Given the description of an element on the screen output the (x, y) to click on. 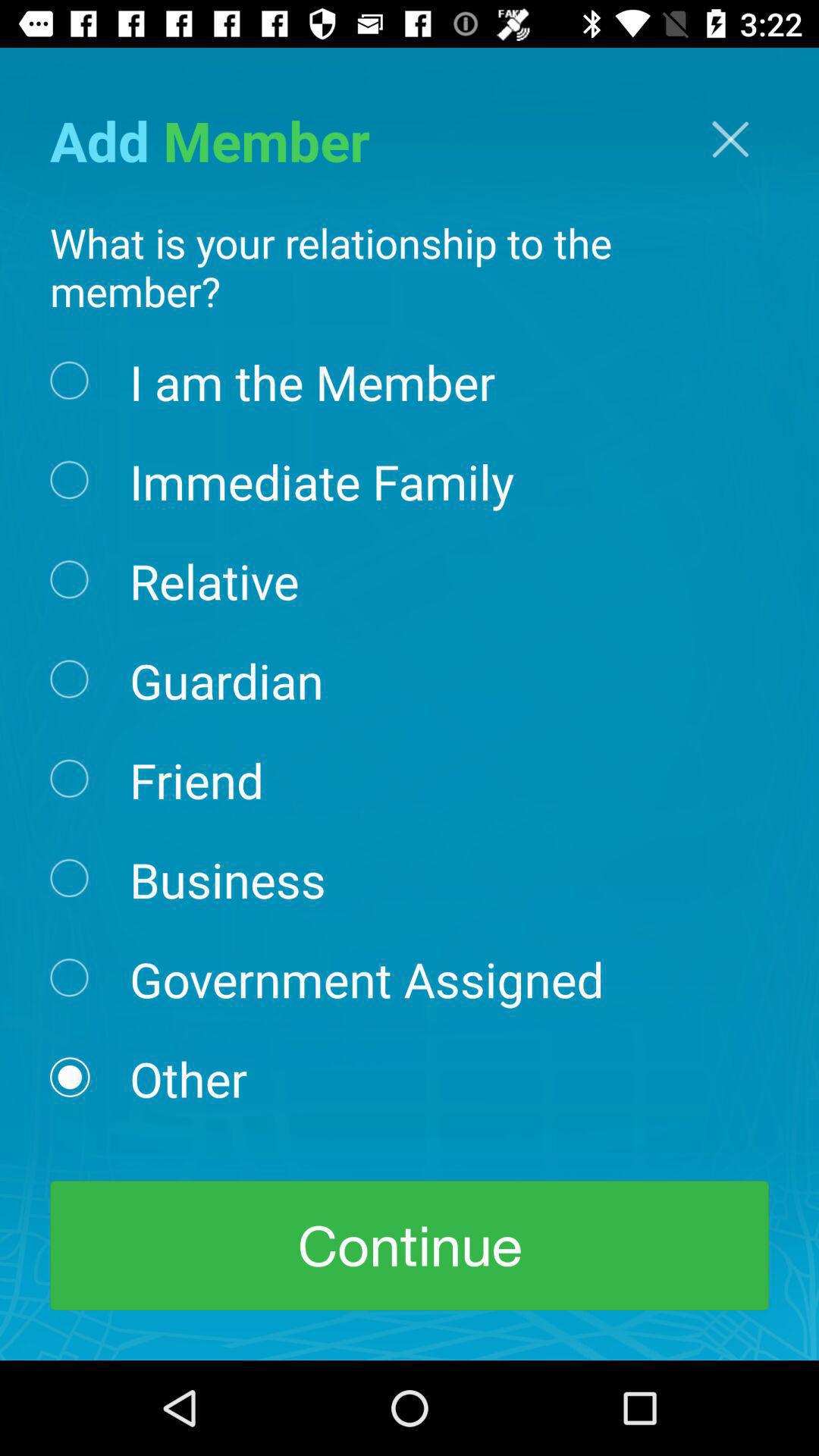
swipe to business item (227, 878)
